Given the description of an element on the screen output the (x, y) to click on. 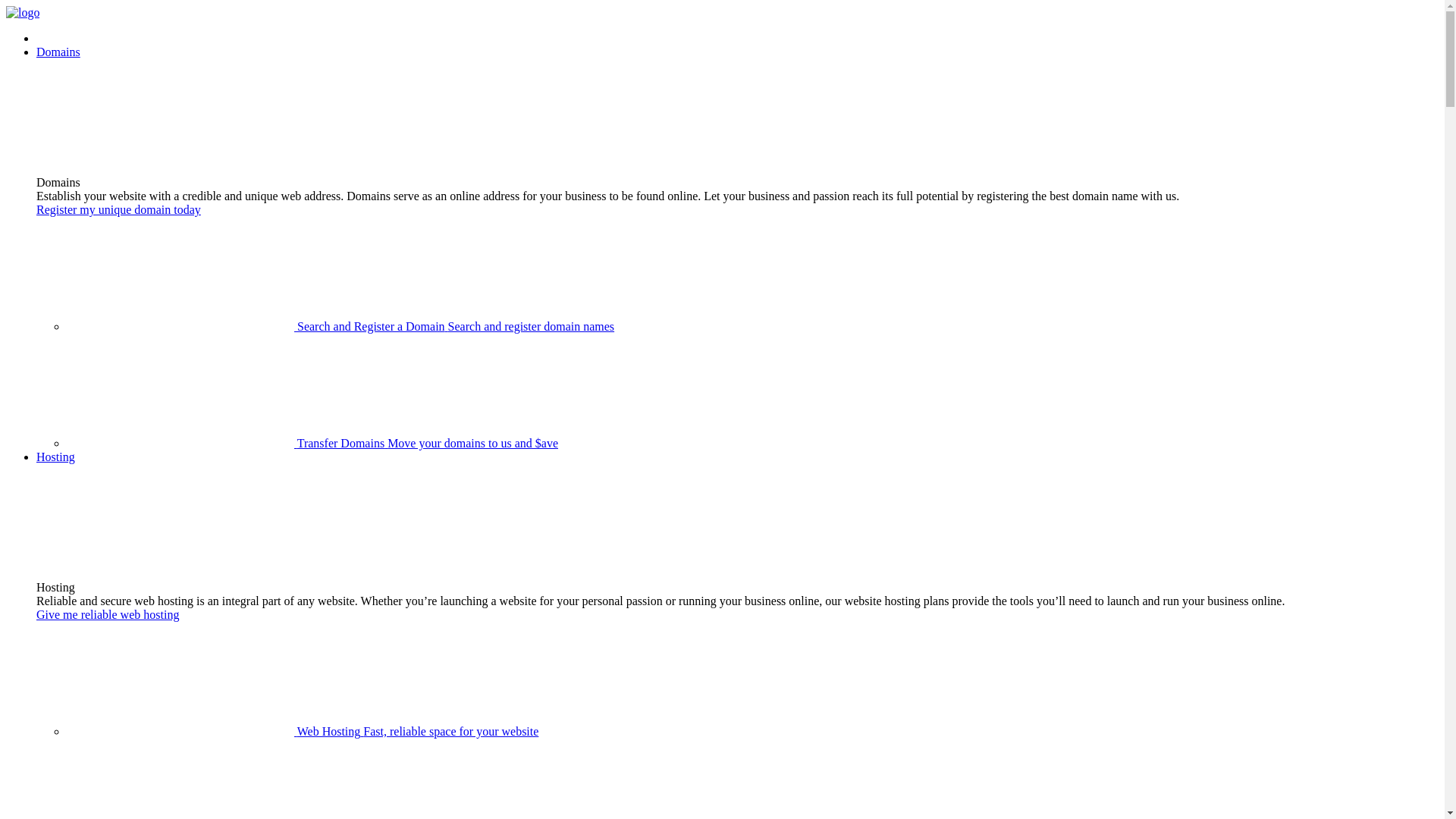
Register my unique domain today Element type: text (118, 209)
Hosting Element type: text (55, 456)
Give me reliable web hosting Element type: text (107, 614)
Domains Element type: text (58, 51)
Transfer Domains Move your domains to us and $ave Element type: text (312, 442)
Web Hosting Fast, reliable space for your website Element type: text (302, 730)
